Given the description of an element on the screen output the (x, y) to click on. 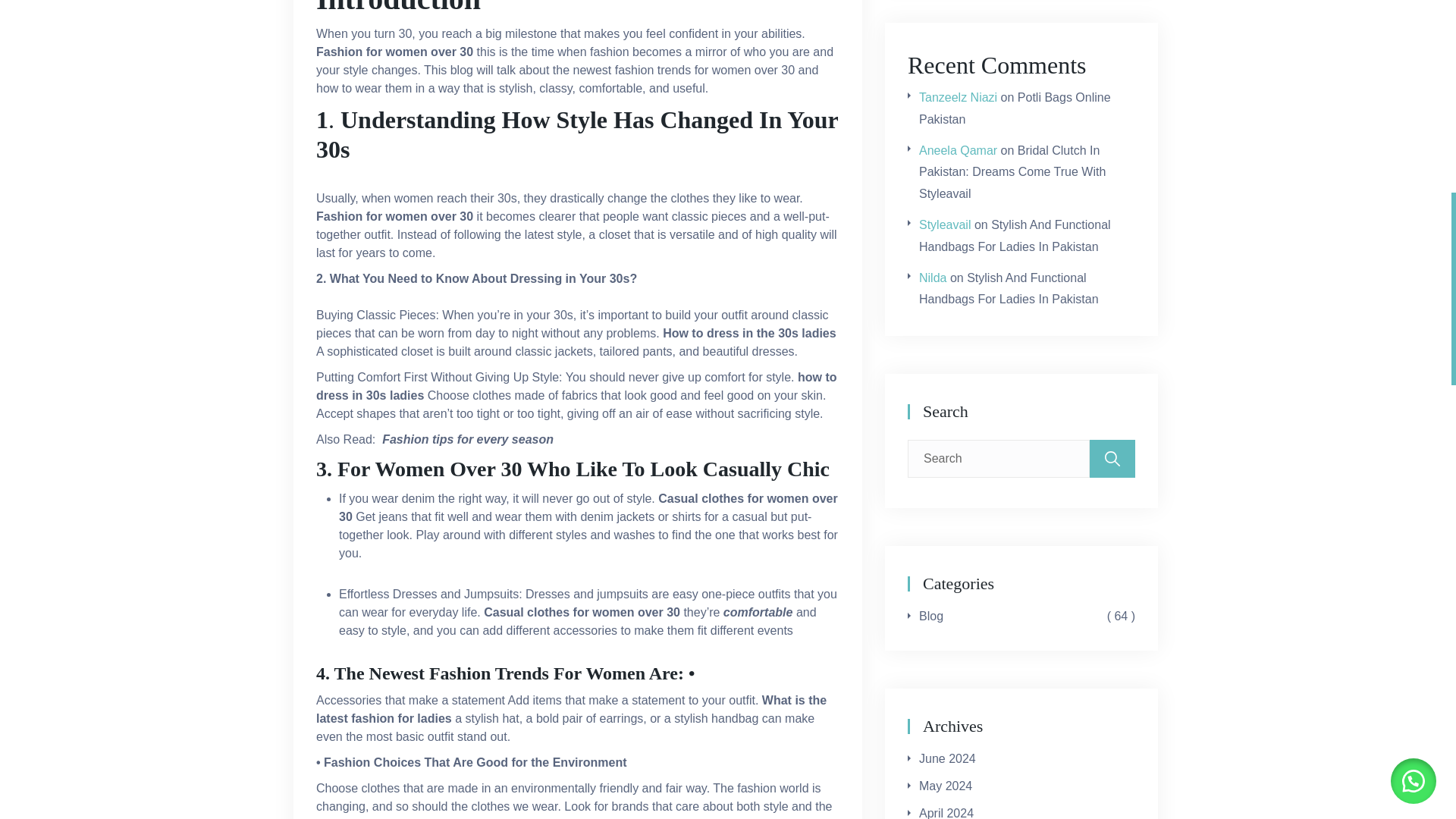
Bridal Clutch In Pakistan: Dreams Come True With Styleavail (1011, 172)
Blog (930, 616)
comfortable (755, 612)
Stylish And Functional Handbags For Ladies In Pakistan (1008, 288)
Fashion tips for every season (467, 439)
May 2024 (945, 786)
Potli Bags Online Pakistan (1014, 108)
Styleavail (944, 224)
June 2024 (946, 759)
Stylish And Functional Handbags For Ladies In Pakistan (1014, 235)
